Given the description of an element on the screen output the (x, y) to click on. 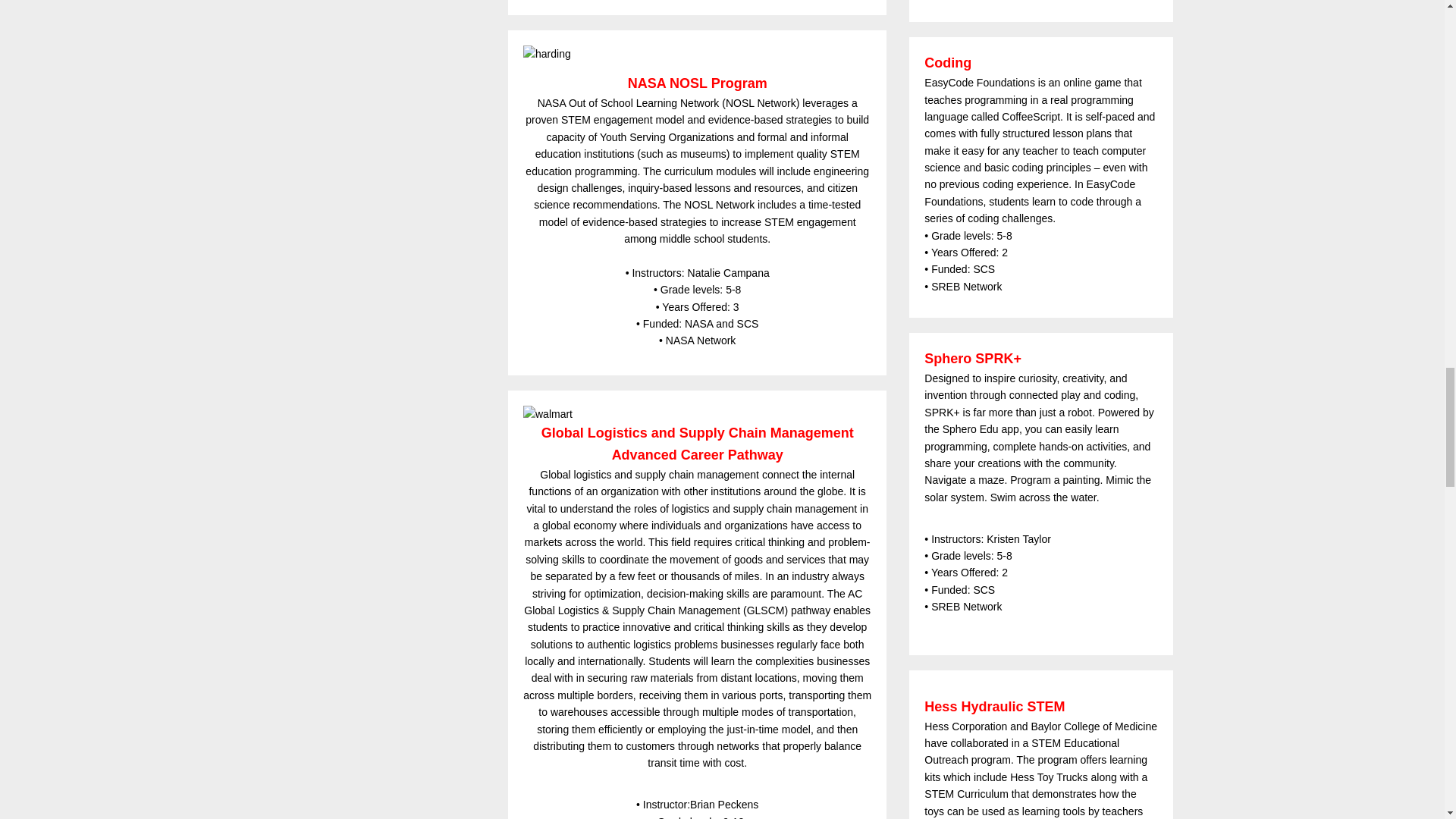
walmart (696, 413)
harding (696, 53)
